Given the description of an element on the screen output the (x, y) to click on. 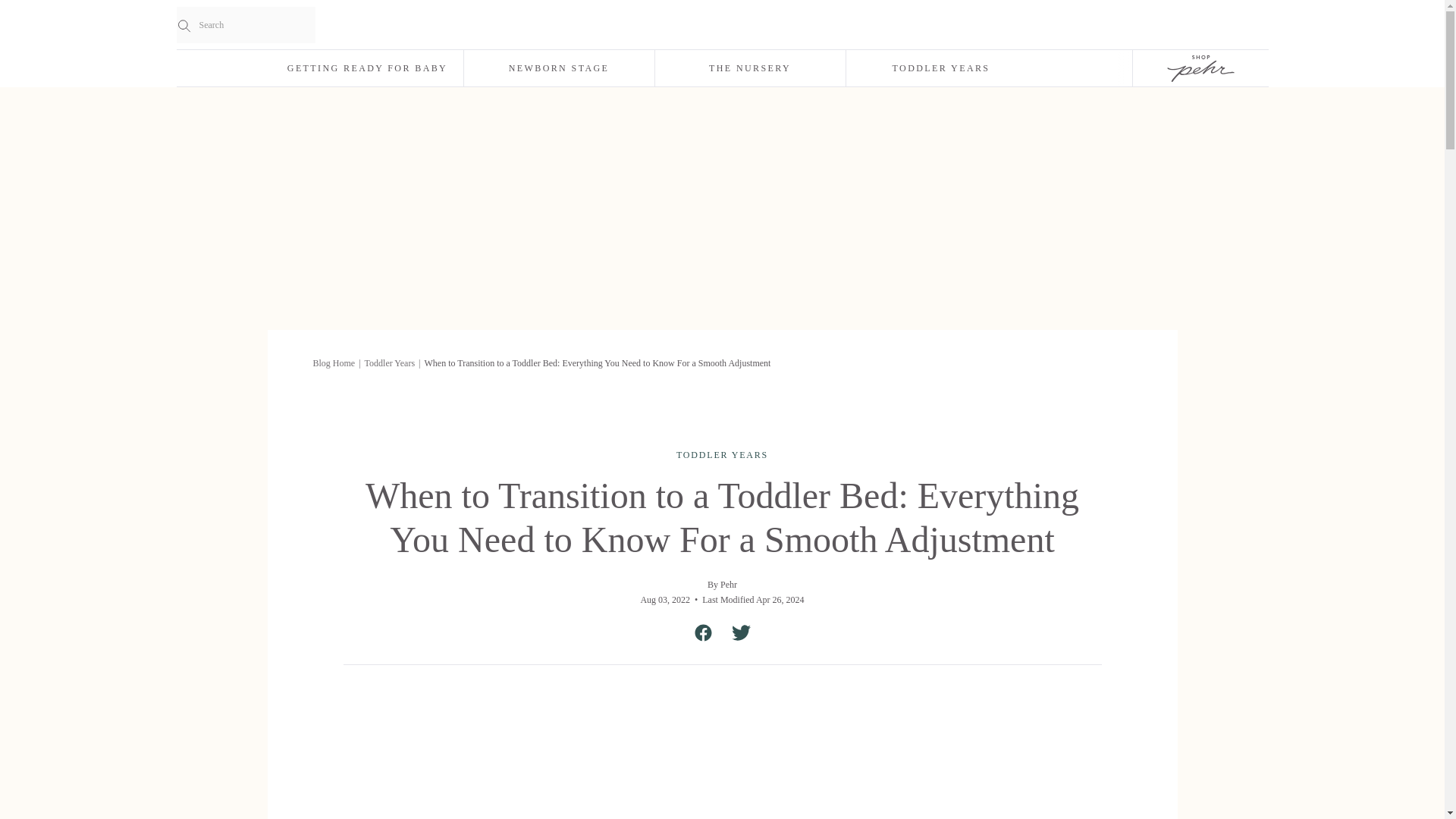
GETTING READY FOR BABY (366, 67)
NEWBORN STAGE (558, 67)
THE NURSERY (750, 67)
TODDLER YEARS (940, 67)
